Given the description of an element on the screen output the (x, y) to click on. 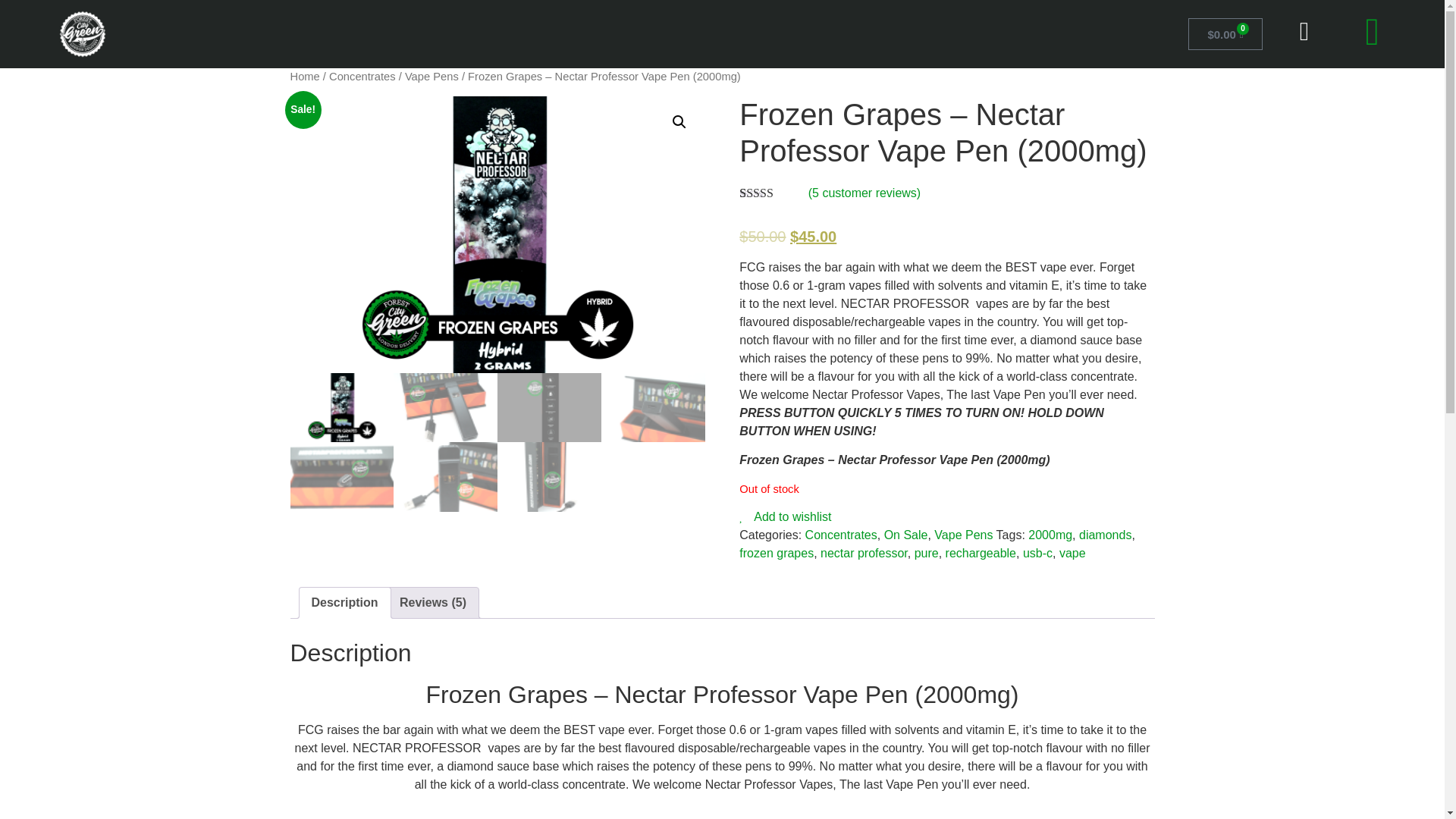
Description (344, 603)
Frozen Grapes - Nectar Professor Vape Pen forestcitygreen (496, 234)
nectar professor (864, 553)
Vape Pens (963, 534)
usb-c (1037, 553)
rechargeable (980, 553)
Home (303, 76)
Concentrates (841, 534)
Vape Pens (431, 76)
pure (926, 553)
2000mg (1049, 534)
Concentrates (362, 76)
diamonds (1104, 534)
vape (1072, 553)
Add to wishlist (785, 516)
